Given the description of an element on the screen output the (x, y) to click on. 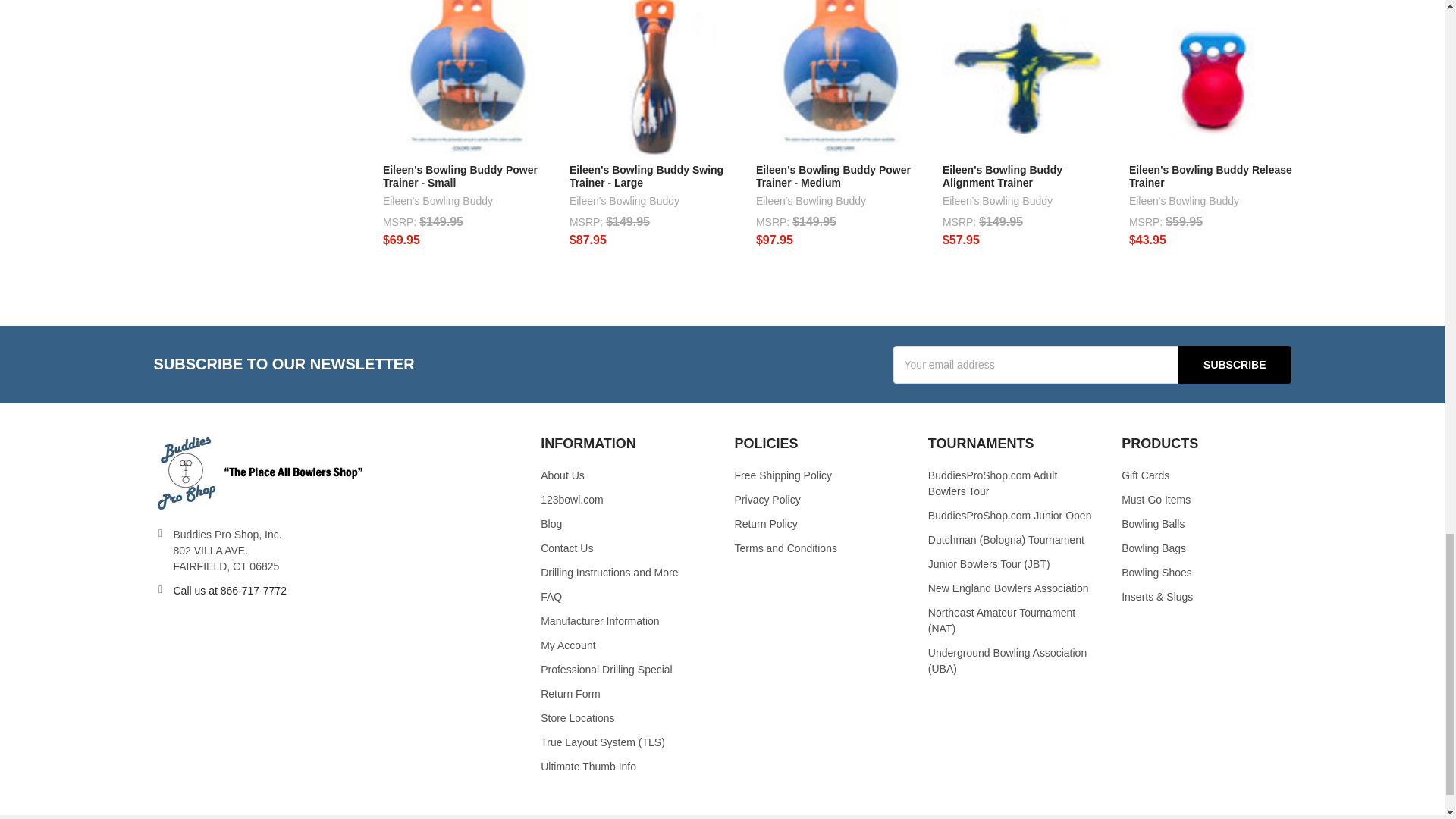
Subscribe (1233, 364)
